Given the description of an element on the screen output the (x, y) to click on. 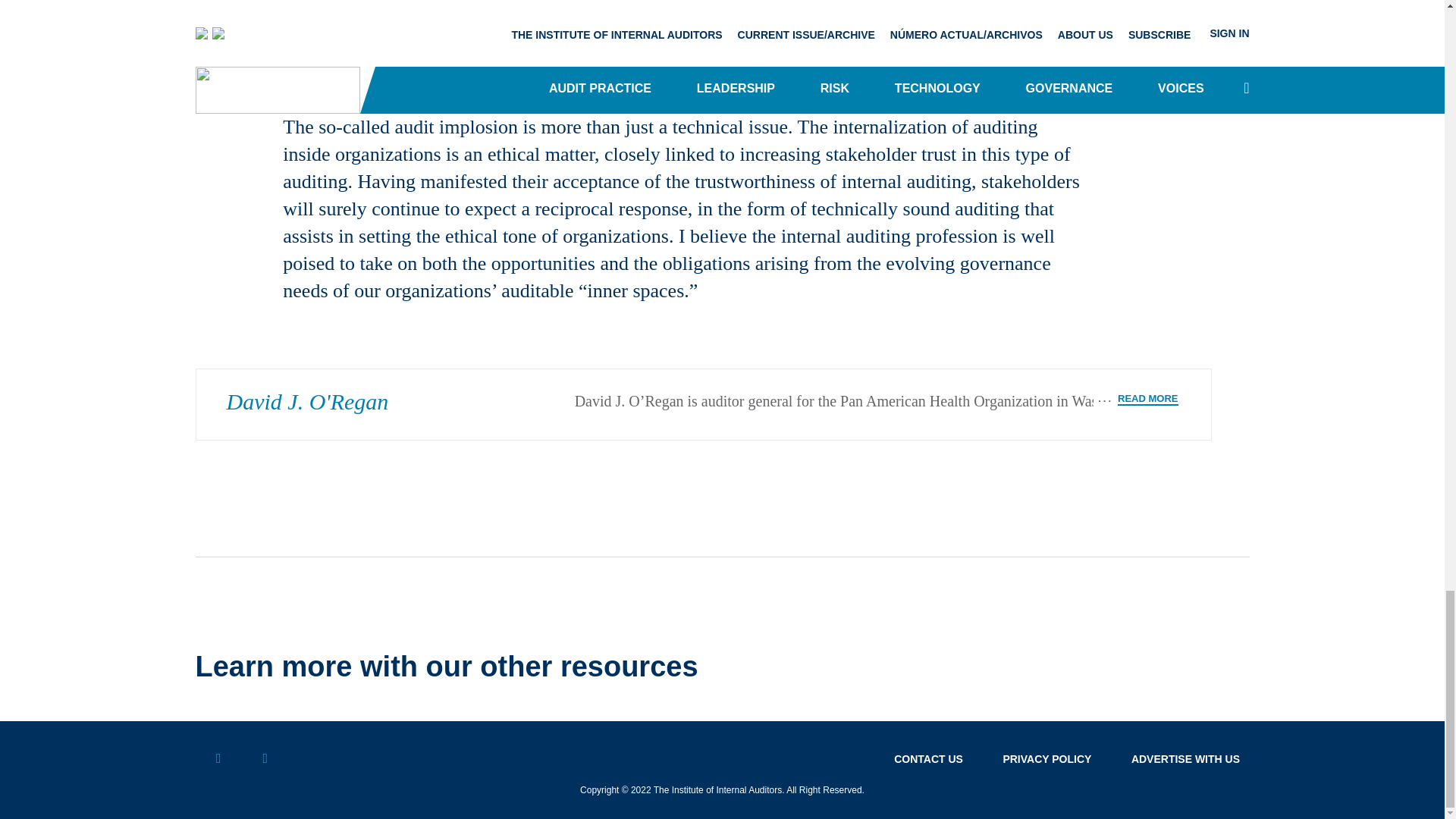
Three Lines Model (775, 1)
